Given the description of an element on the screen output the (x, y) to click on. 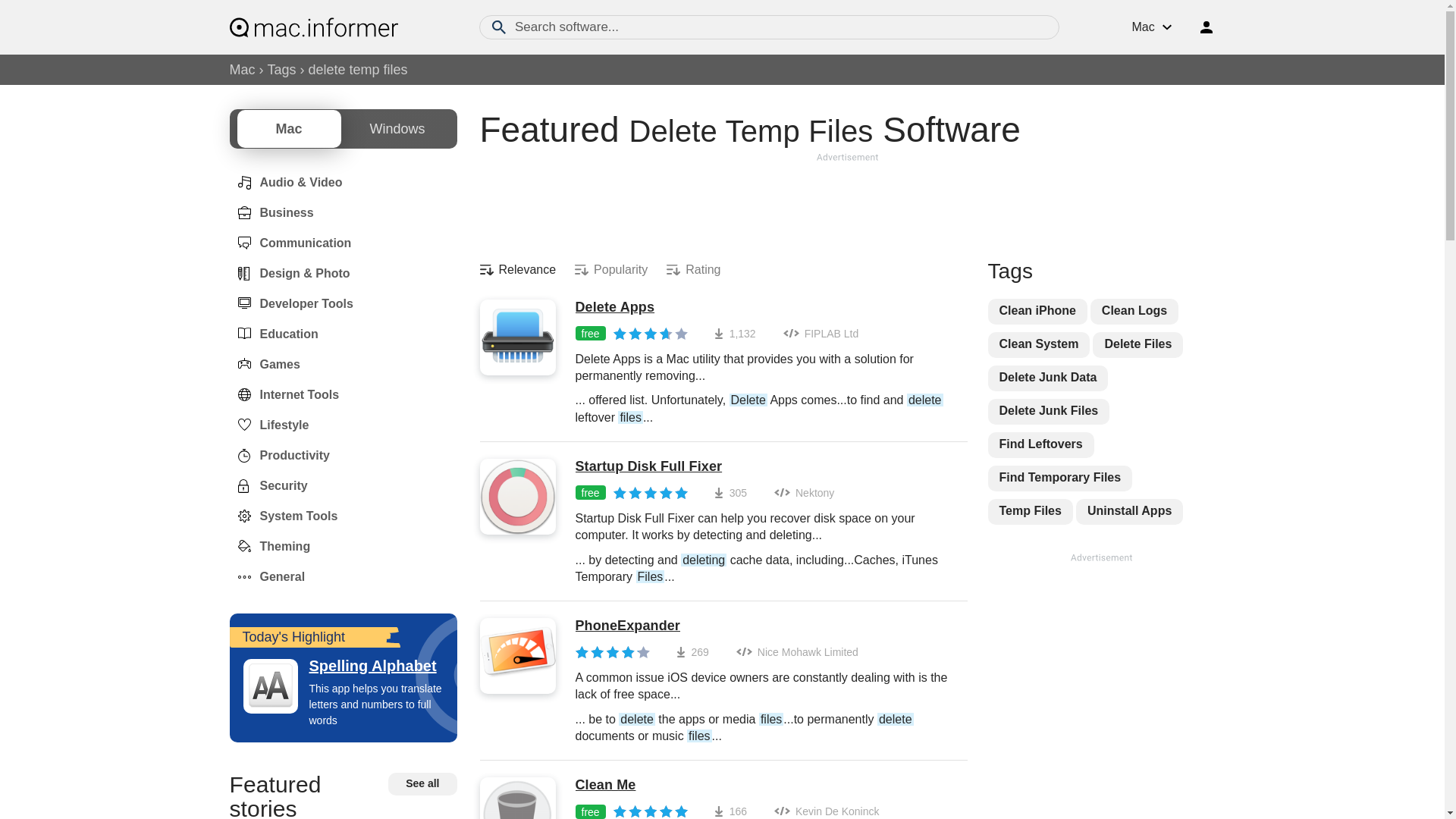
PhoneExpander (763, 626)
Windows (396, 128)
Delete Apps (763, 307)
Internet Tools (283, 395)
Software downloads and reviews (312, 26)
See all (422, 784)
Startup Disk Full Fixer (763, 466)
Productivity (278, 455)
Communication (289, 243)
Security (267, 486)
Theming (269, 546)
PhoneExpander (763, 626)
Lifestyle (268, 425)
